Given the description of an element on the screen output the (x, y) to click on. 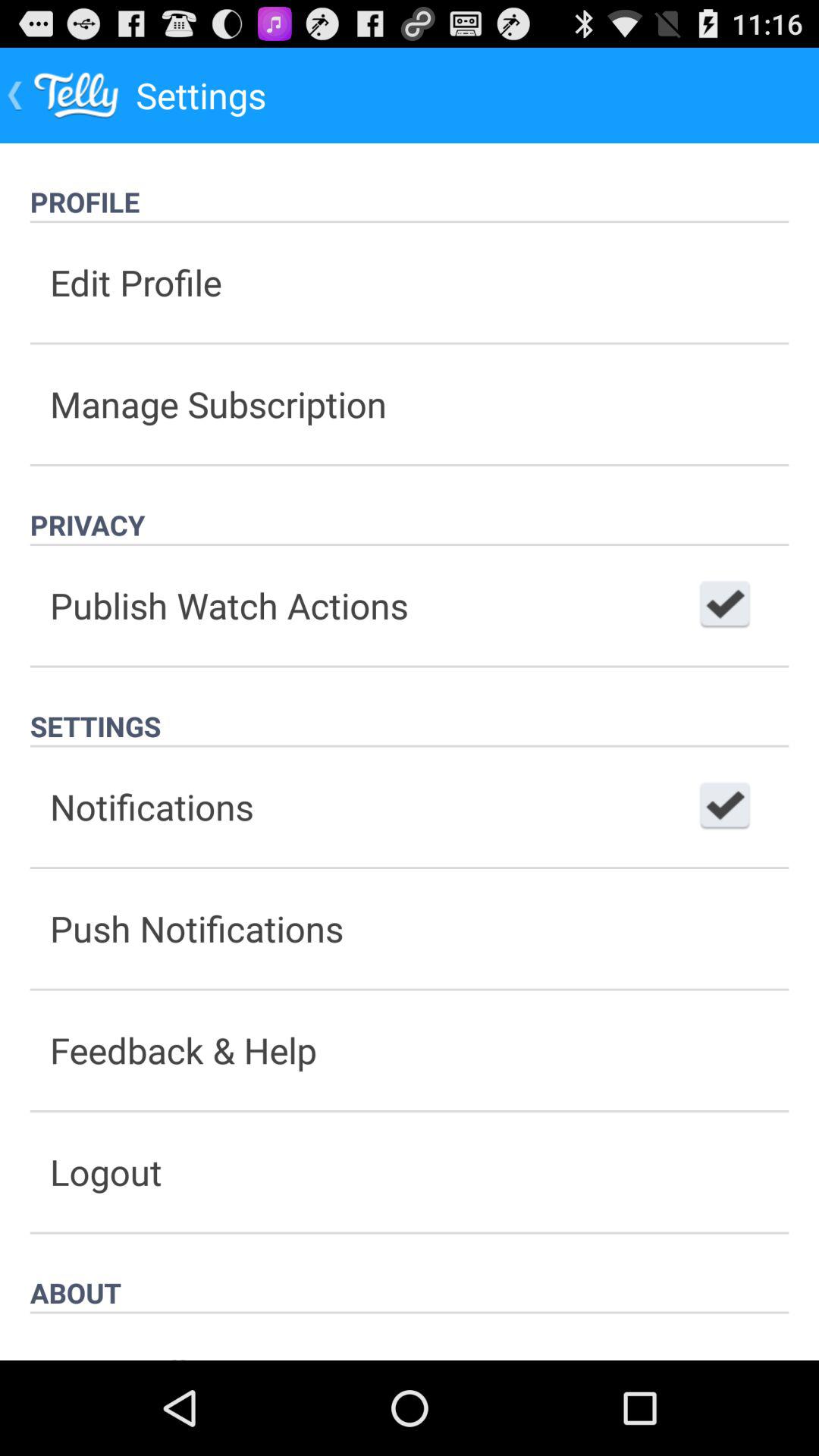
publish this (724, 605)
